Given the description of an element on the screen output the (x, y) to click on. 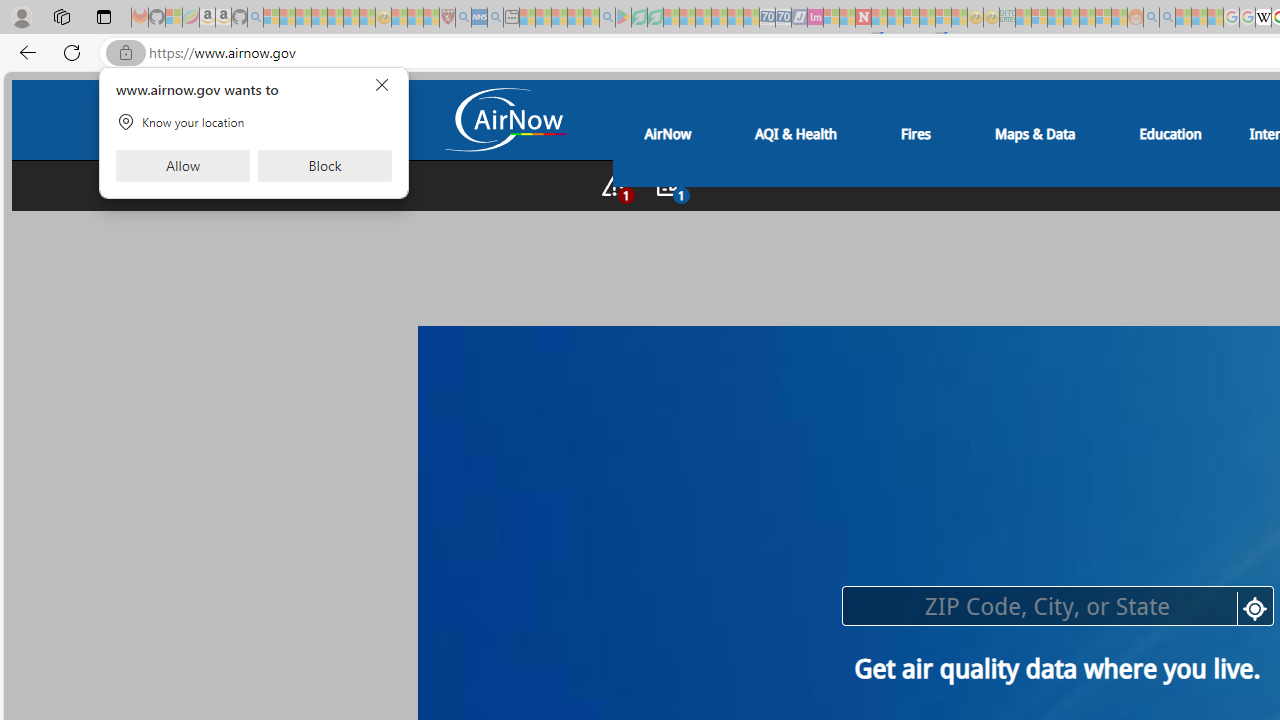
Air Now Logo (504, 121)
Block (324, 165)
